Given the description of an element on the screen output the (x, y) to click on. 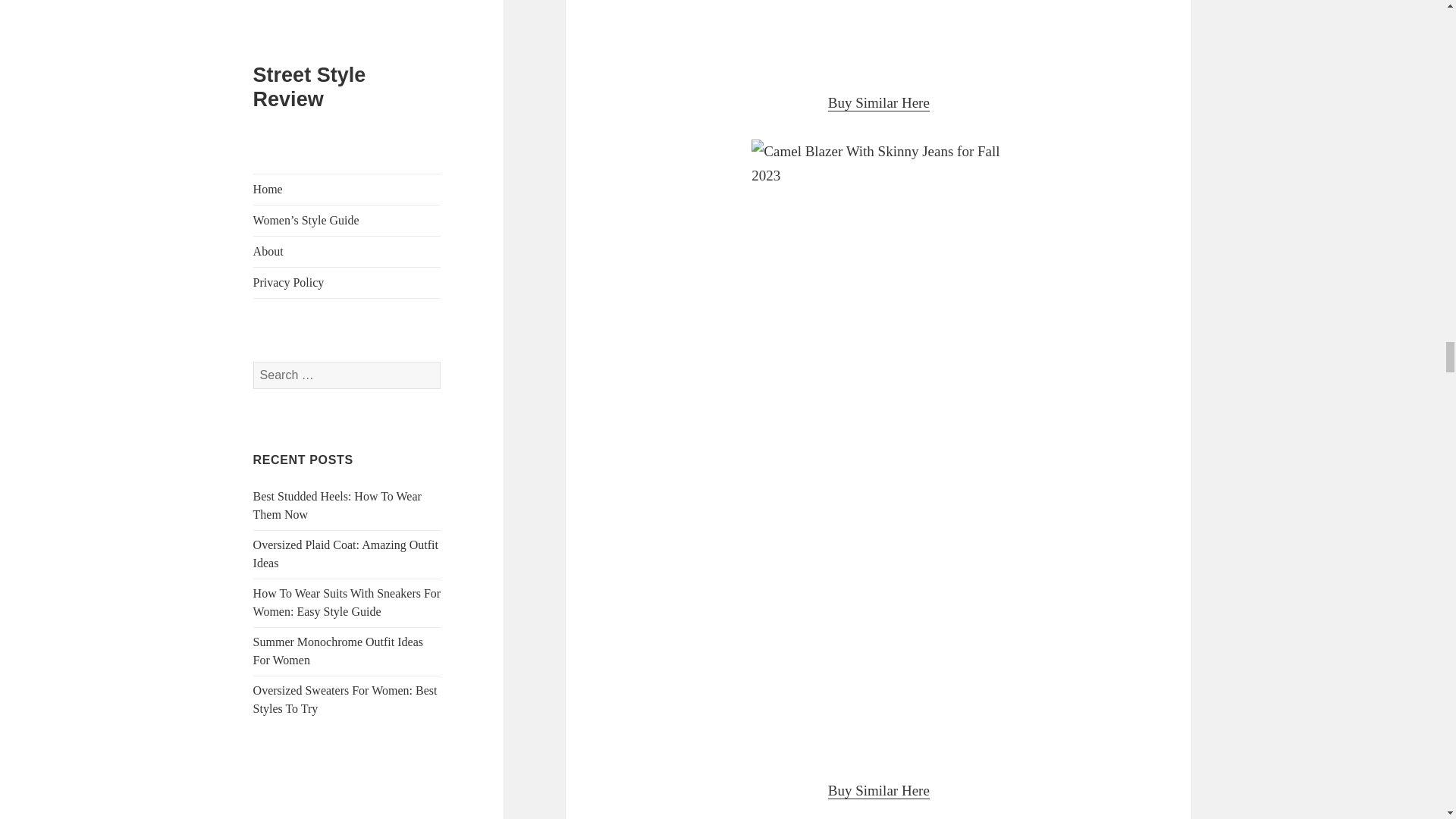
Camel Blazer With Skinny Jeans for Fall 2023 (878, 33)
Buy Similar Here (879, 103)
Buy Similar Here (879, 790)
